Given the description of an element on the screen output the (x, y) to click on. 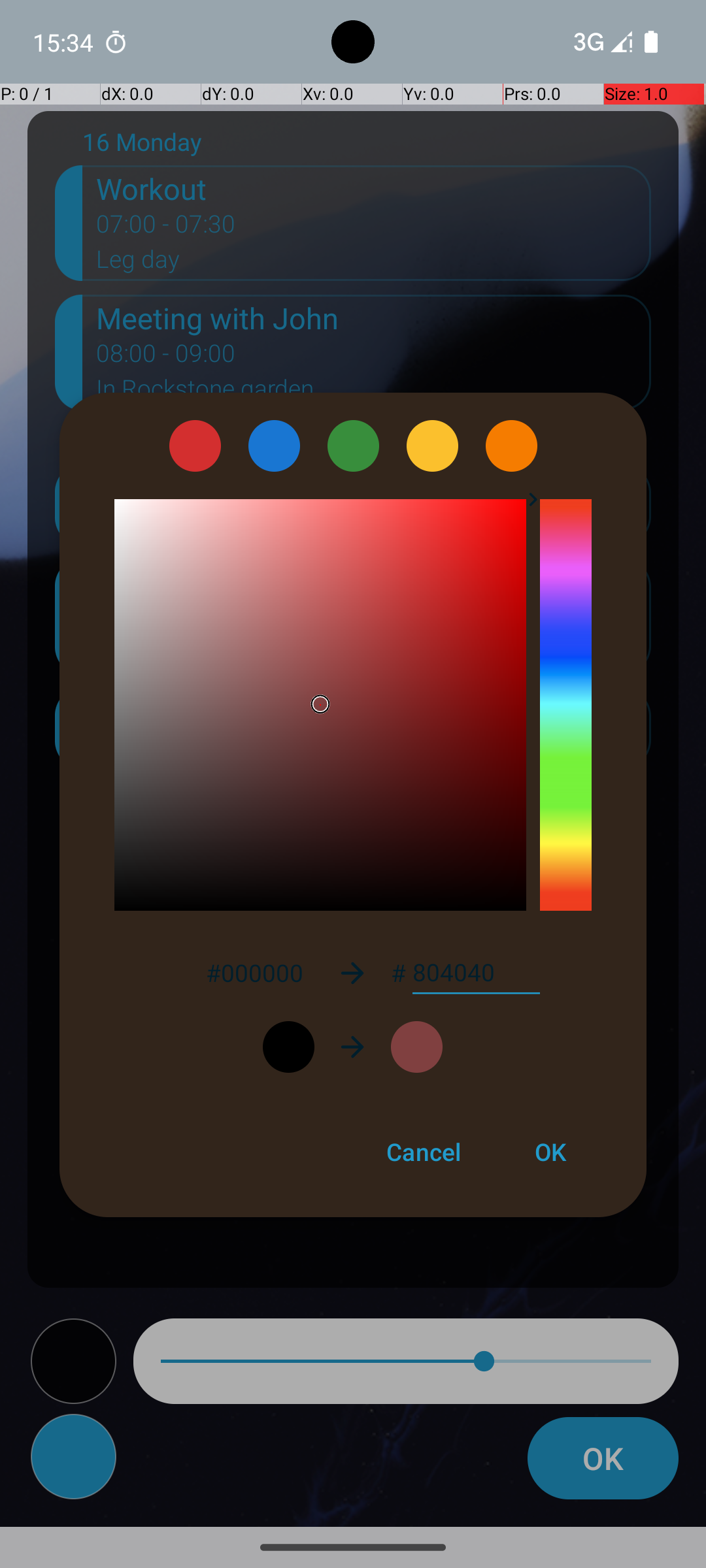
#000000 Element type: android.widget.TextView (254, 972)
804040 Element type: android.widget.EditText (475, 972)
